Given the description of an element on the screen output the (x, y) to click on. 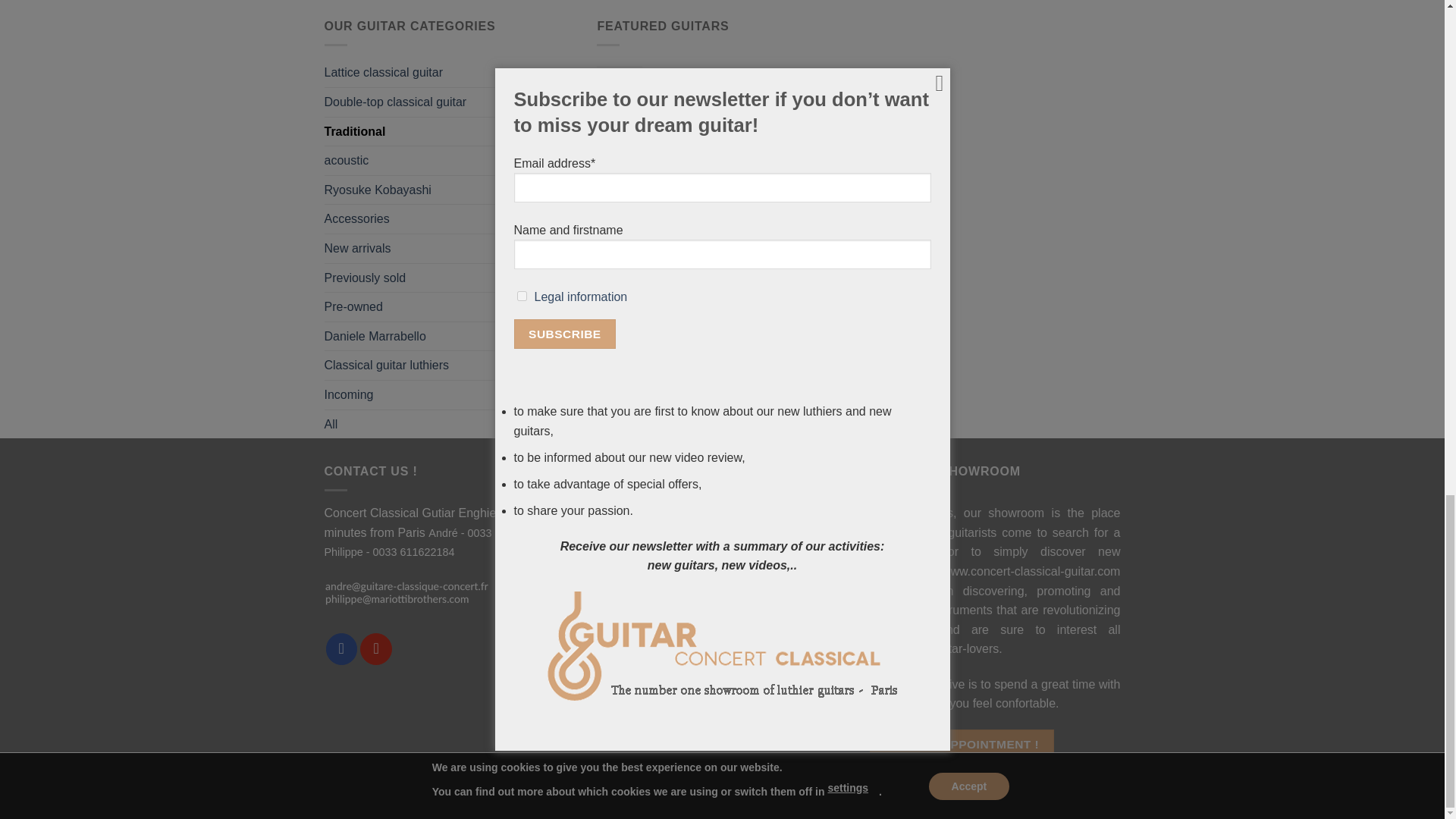
Follow on Facebook (342, 649)
Follow on YouTube (375, 649)
